Given the description of an element on the screen output the (x, y) to click on. 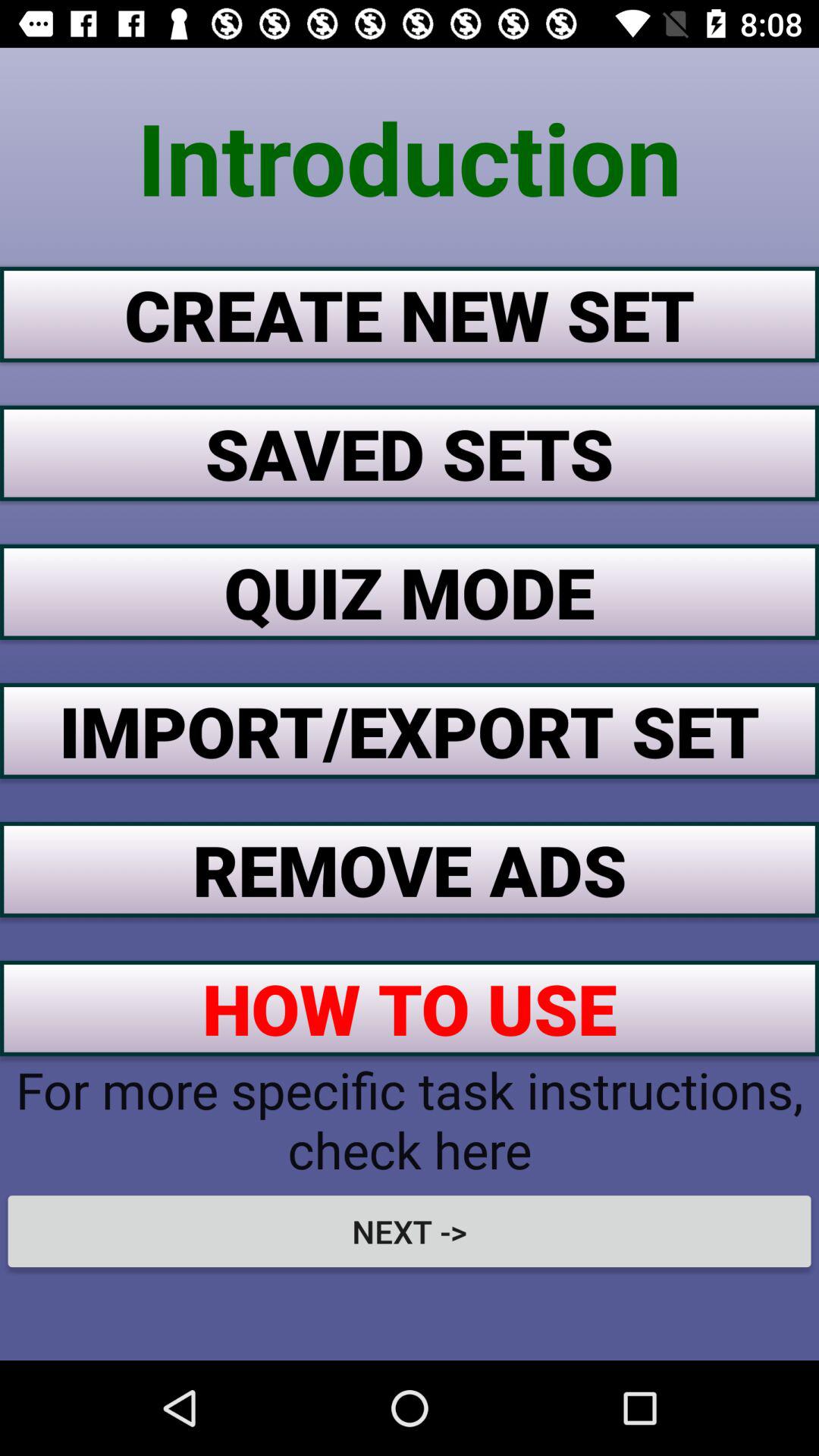
click app below the introduction (409, 314)
